Given the description of an element on the screen output the (x, y) to click on. 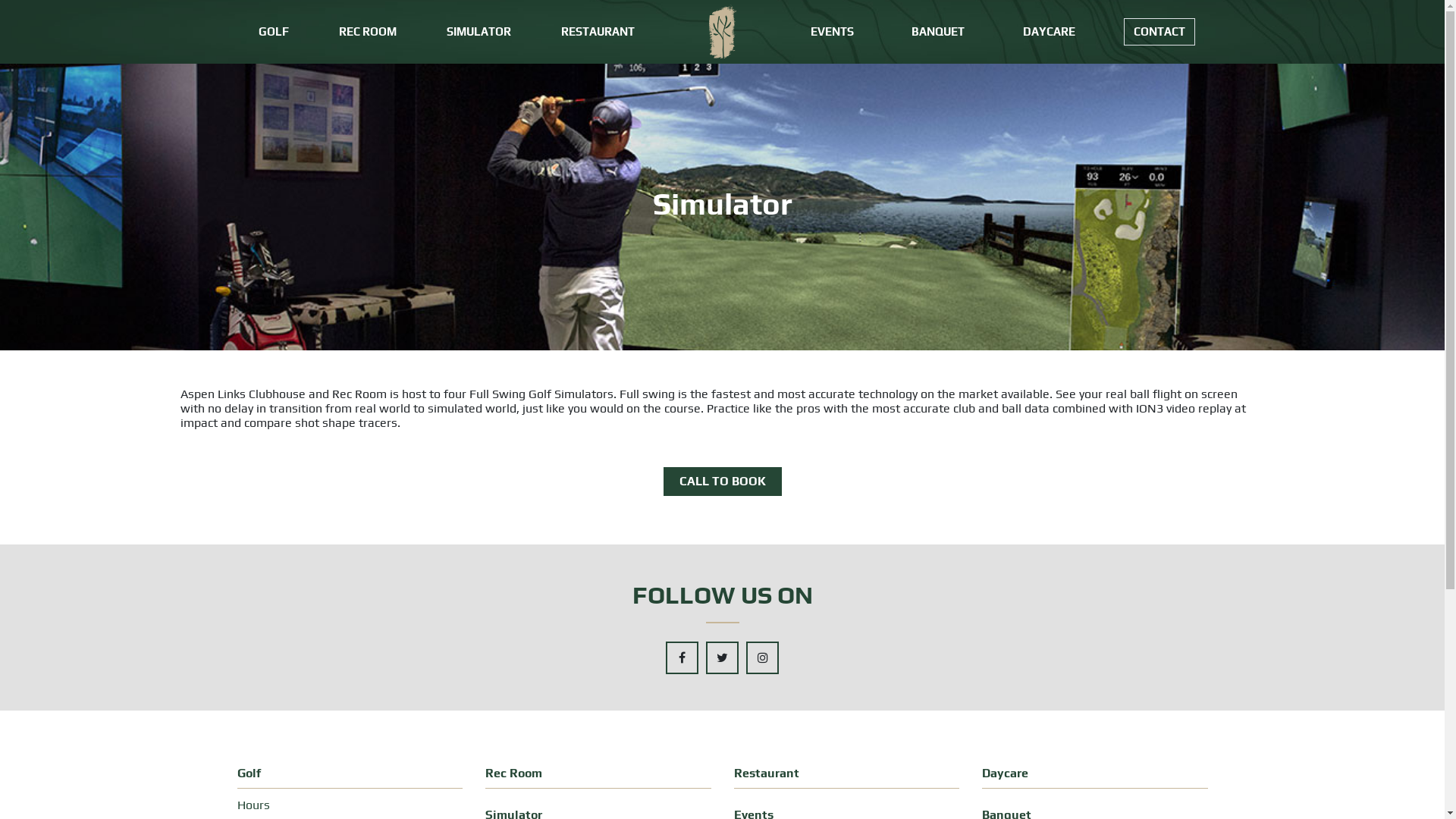
GOLF Element type: text (272, 31)
CALL TO BOOK Element type: text (721, 481)
Rec Room Element type: text (513, 772)
RESTAURANT Element type: text (597, 31)
DAYCARE Element type: text (1048, 31)
Restaurant Element type: text (766, 772)
Daycare Element type: text (1005, 772)
Hours Element type: text (349, 804)
CONTACT Element type: text (1159, 31)
Golf Element type: text (248, 772)
EVENTS Element type: text (831, 31)
SIMULATOR Element type: text (477, 31)
BANQUET Element type: text (937, 31)
REC ROOM Element type: text (366, 31)
